Given the description of an element on the screen output the (x, y) to click on. 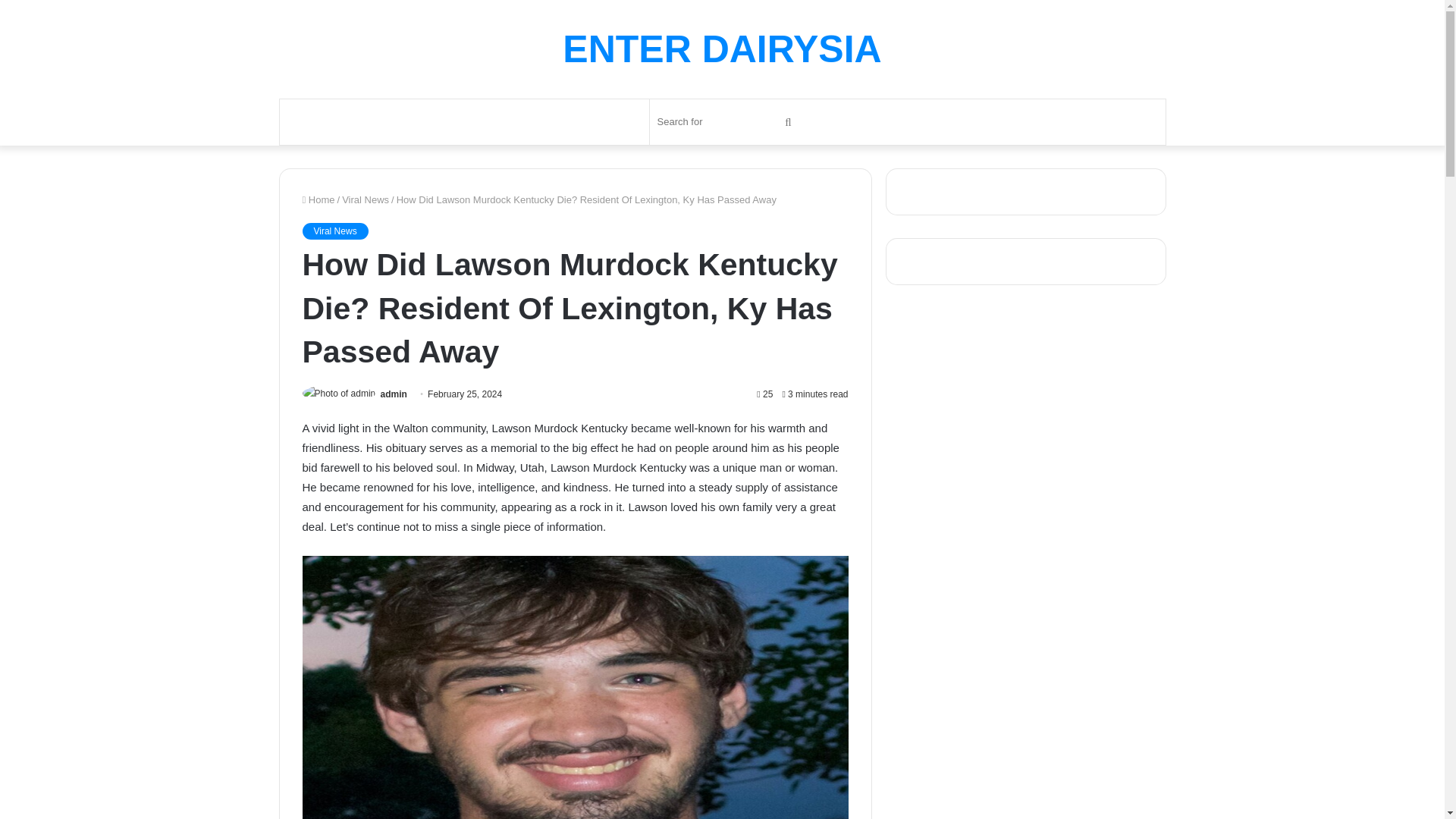
Home (317, 199)
Viral News (334, 230)
admin (393, 394)
Search for (726, 121)
ENTER DAIRYSIA (721, 48)
admin (393, 394)
Viral News (365, 199)
ENTER DAIRYSIA (721, 48)
